Given the description of an element on the screen output the (x, y) to click on. 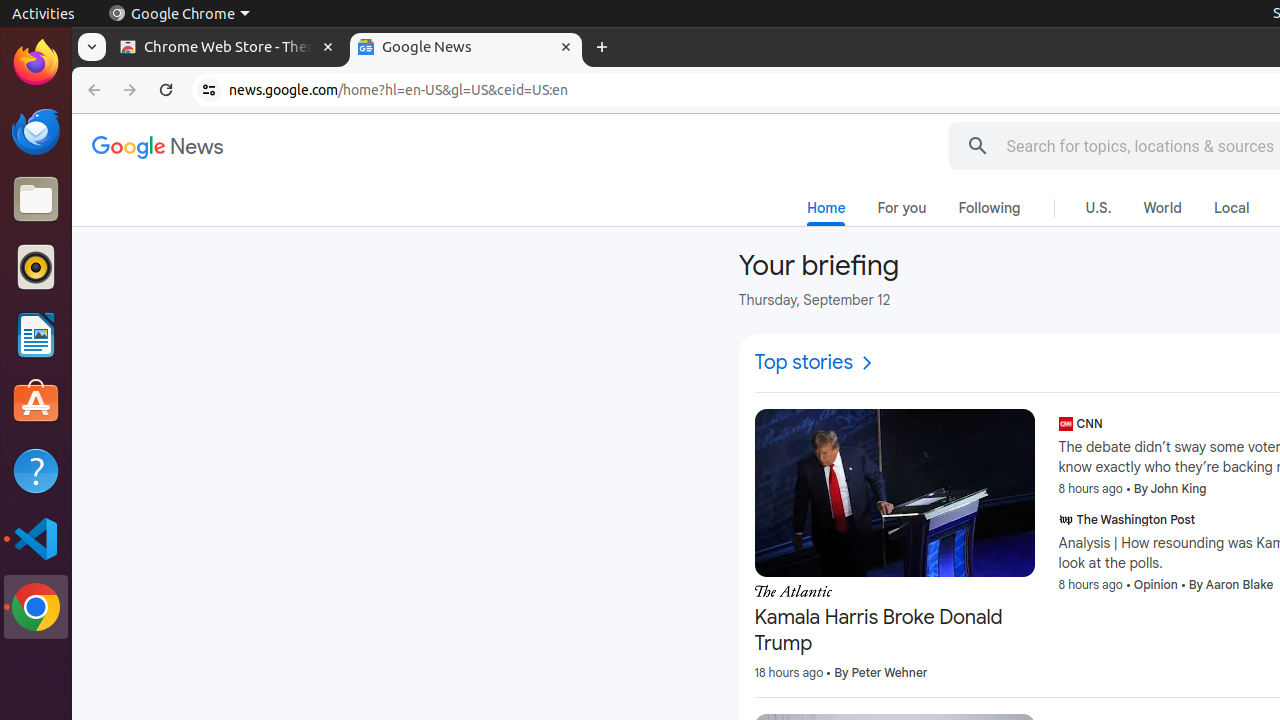
Search Element type: push-button (977, 146)
Help Element type: push-button (36, 470)
